Given the description of an element on the screen output the (x, y) to click on. 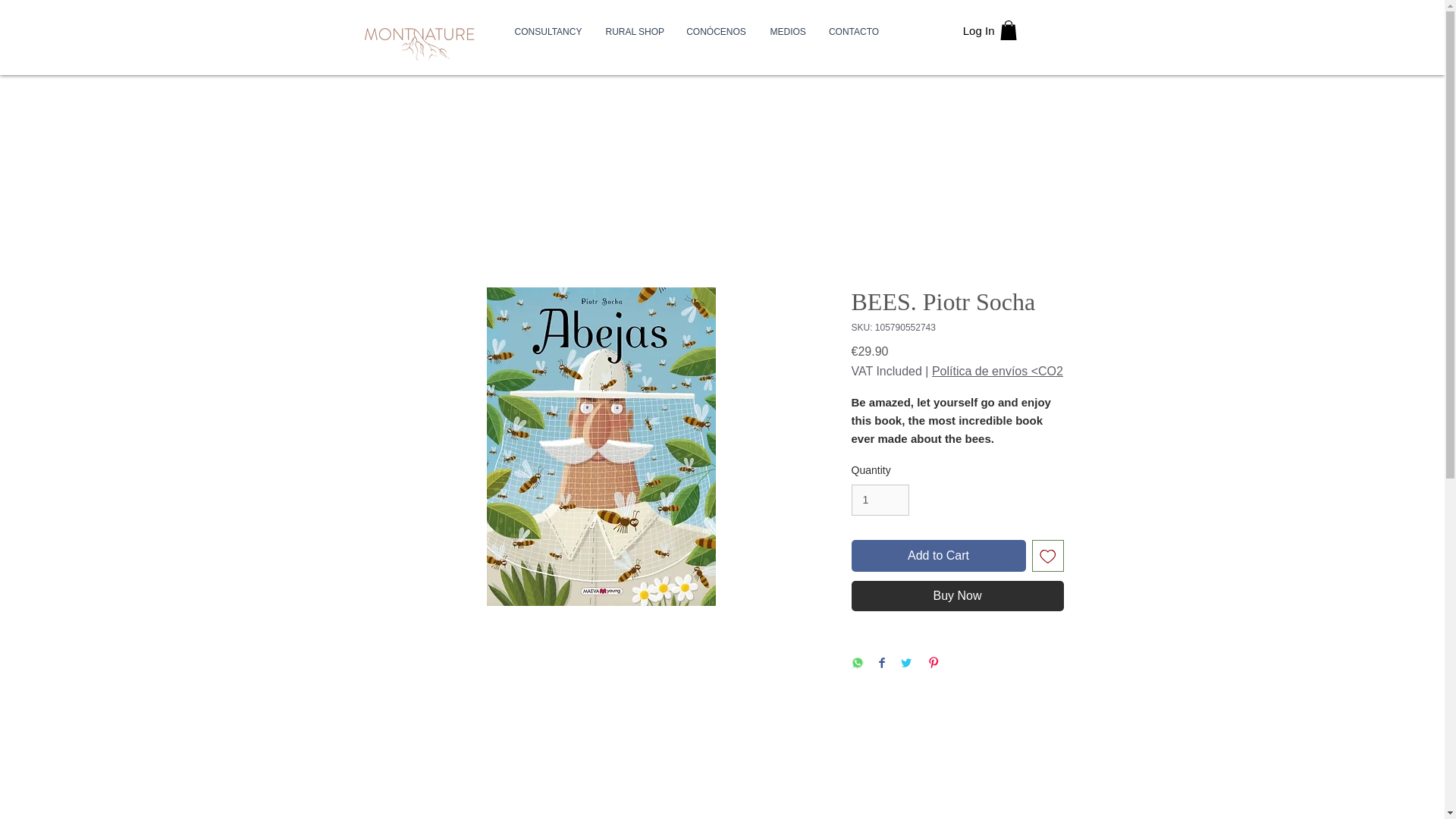
Add to Cart (937, 555)
MEDIOS (786, 31)
Buy Now (956, 595)
RURAL SHOP (634, 31)
CONSULTANCY (548, 31)
Log In (979, 30)
CONTACTO (853, 31)
1 (879, 499)
